Given the description of an element on the screen output the (x, y) to click on. 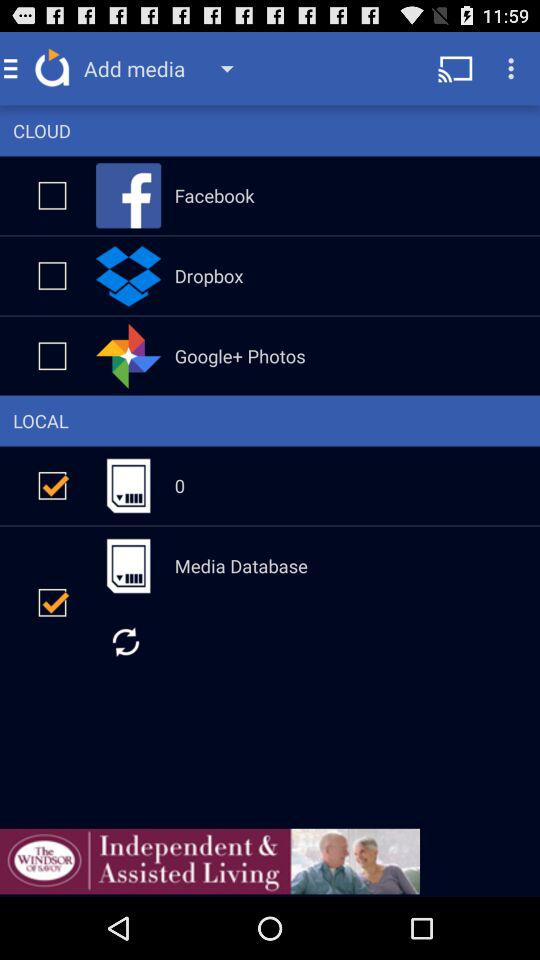
go to tick option (52, 355)
